Given the description of an element on the screen output the (x, y) to click on. 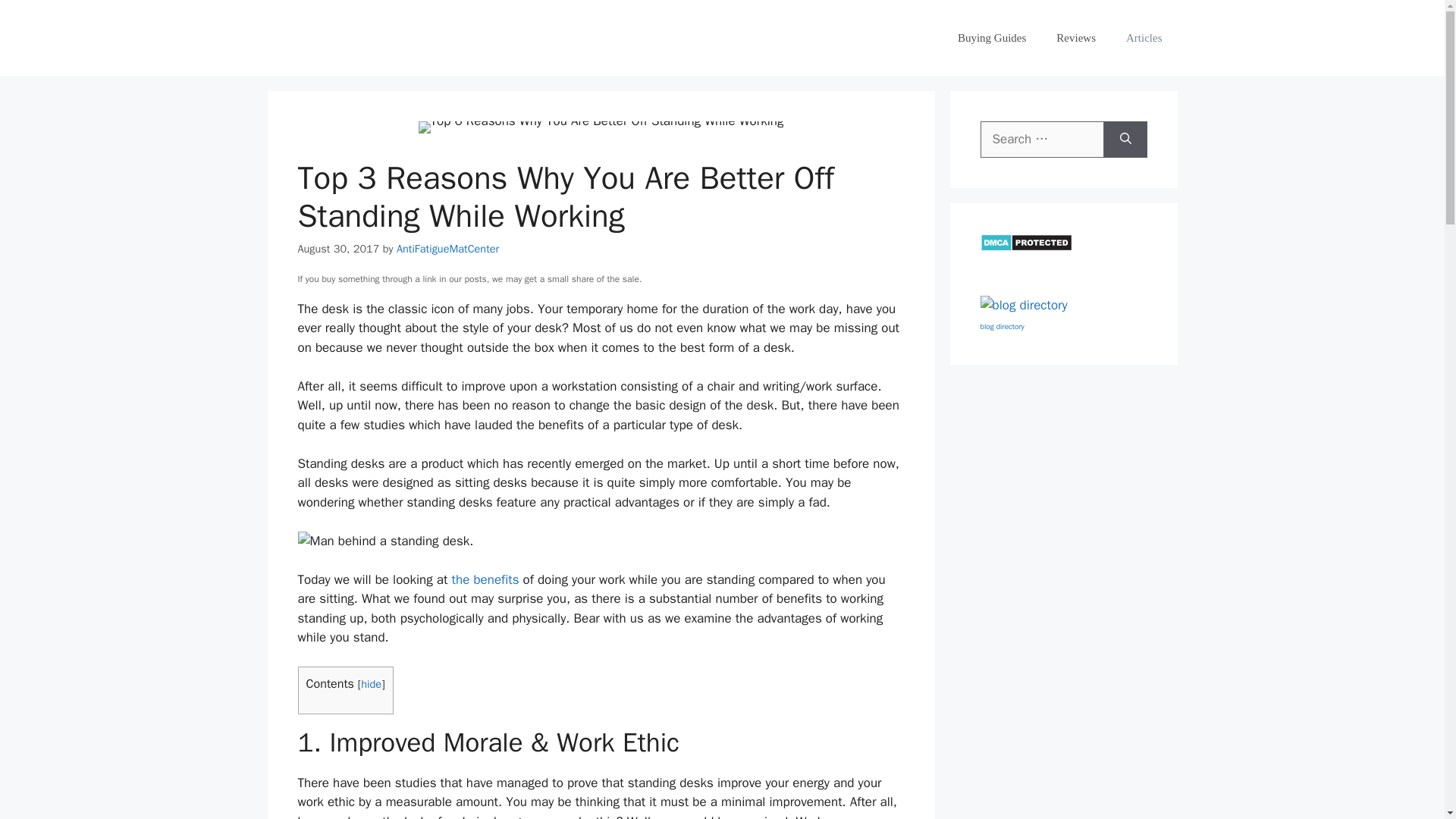
Articles (1143, 37)
blog directory (1001, 326)
the benefits (485, 579)
View all posts by AntiFatigueMatCenter (447, 248)
Buying Guides (991, 37)
AntiFatigueMatCenter (447, 248)
Reviews (1075, 37)
hide (371, 684)
Search for: (1041, 139)
DMCA.com Protection Status (1025, 247)
